Given the description of an element on the screen output the (x, y) to click on. 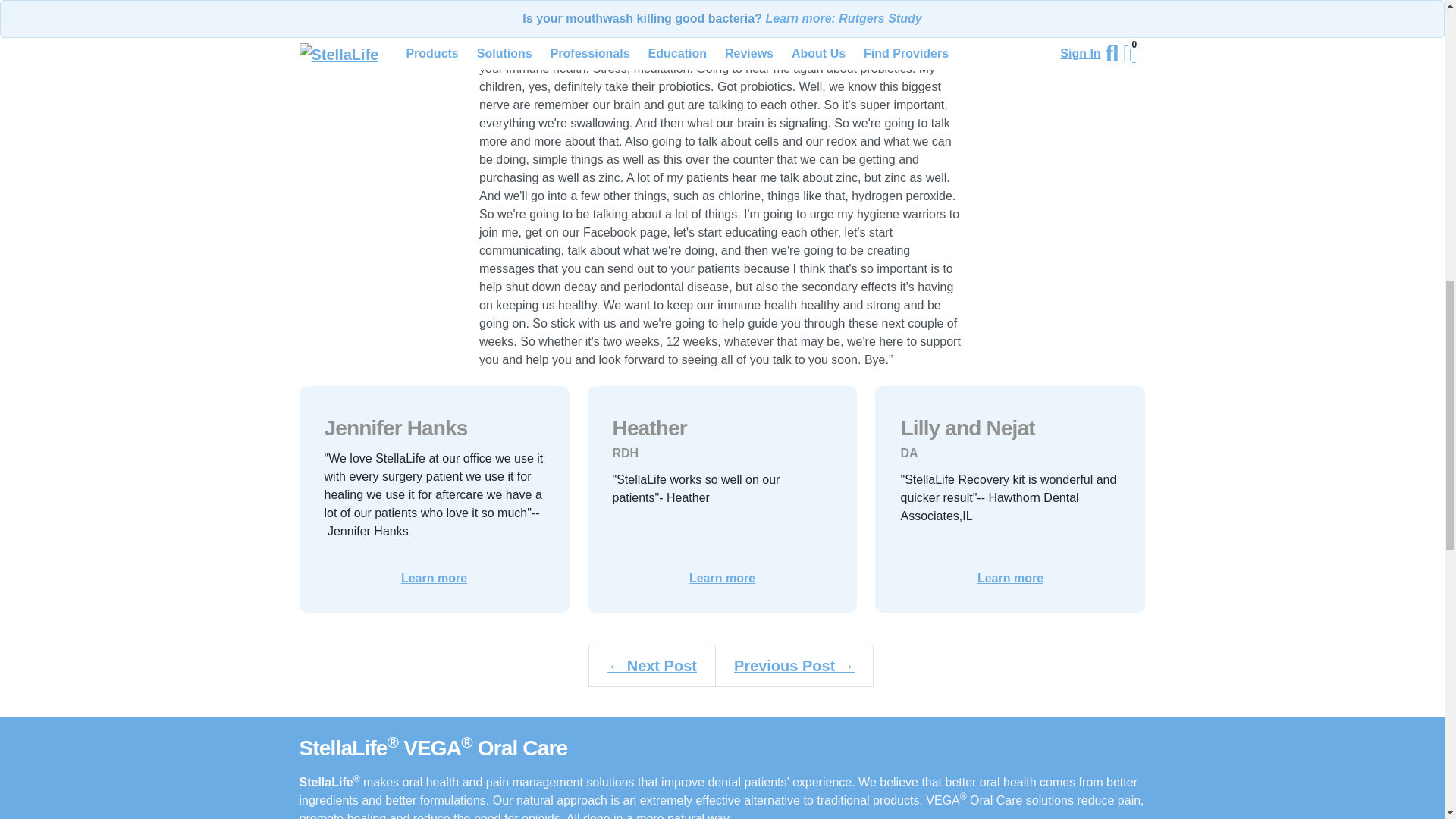
Read More about Heather (721, 577)
Read More about Jennifer Hanks (434, 577)
Read More about Lilly and Nejat (1009, 577)
